Given the description of an element on the screen output the (x, y) to click on. 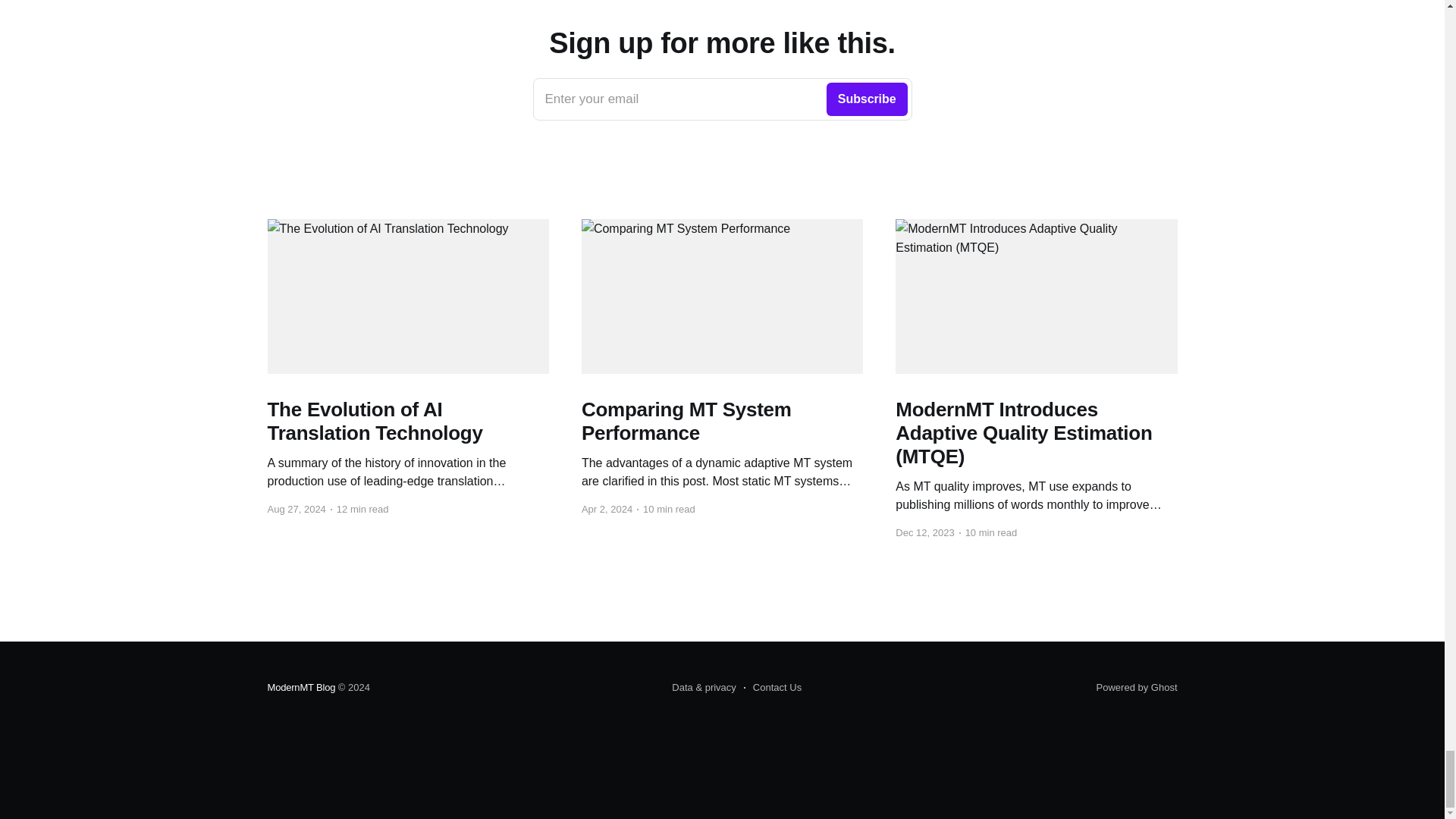
Powered by Ghost (1136, 686)
Contact Us (721, 98)
ModernMT Blog (773, 687)
